Given the description of an element on the screen output the (x, y) to click on. 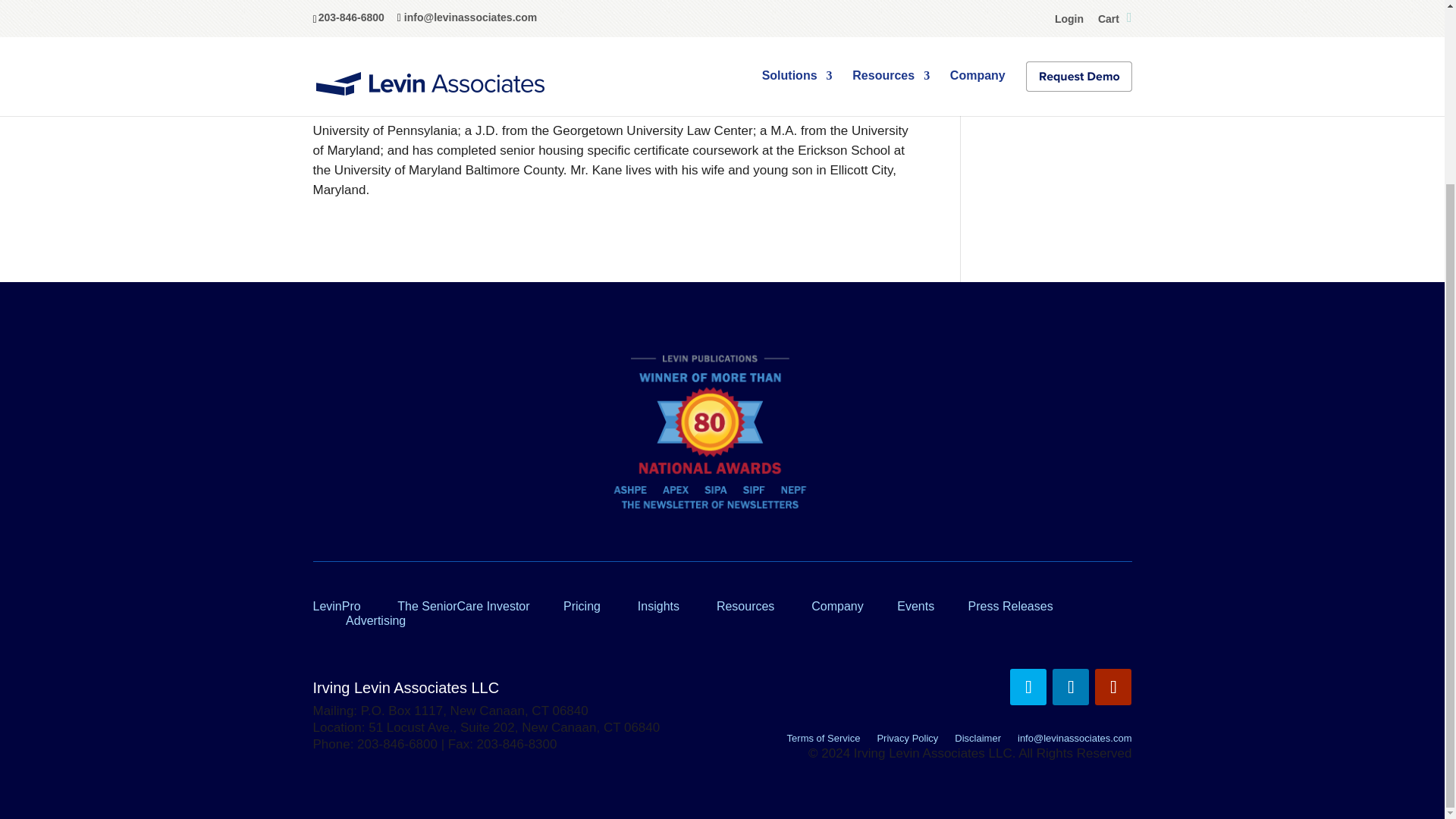
Follow on LinkedIn (1070, 687)
Pricing (581, 605)
Press Releases (1010, 605)
Insights (658, 605)
Follow on Twitter (1028, 687)
Company (836, 605)
Advertising (376, 620)
LevinPro (336, 605)
Events (915, 605)
Follow on Youtube (1112, 687)
The SeniorCare Investor (463, 605)
Resources (745, 605)
